Given the description of an element on the screen output the (x, y) to click on. 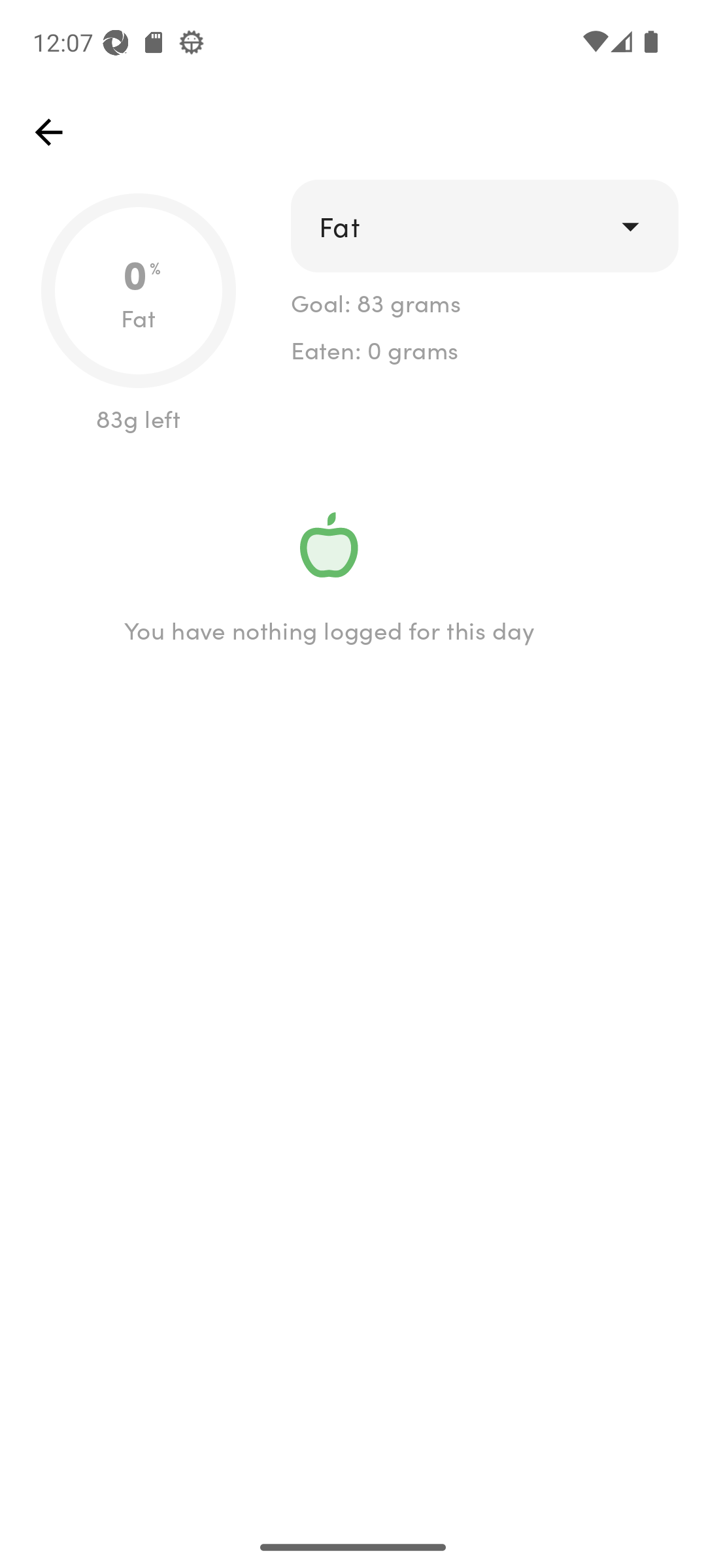
top_left_action (48, 132)
drop_down Fat (484, 226)
